Given the description of an element on the screen output the (x, y) to click on. 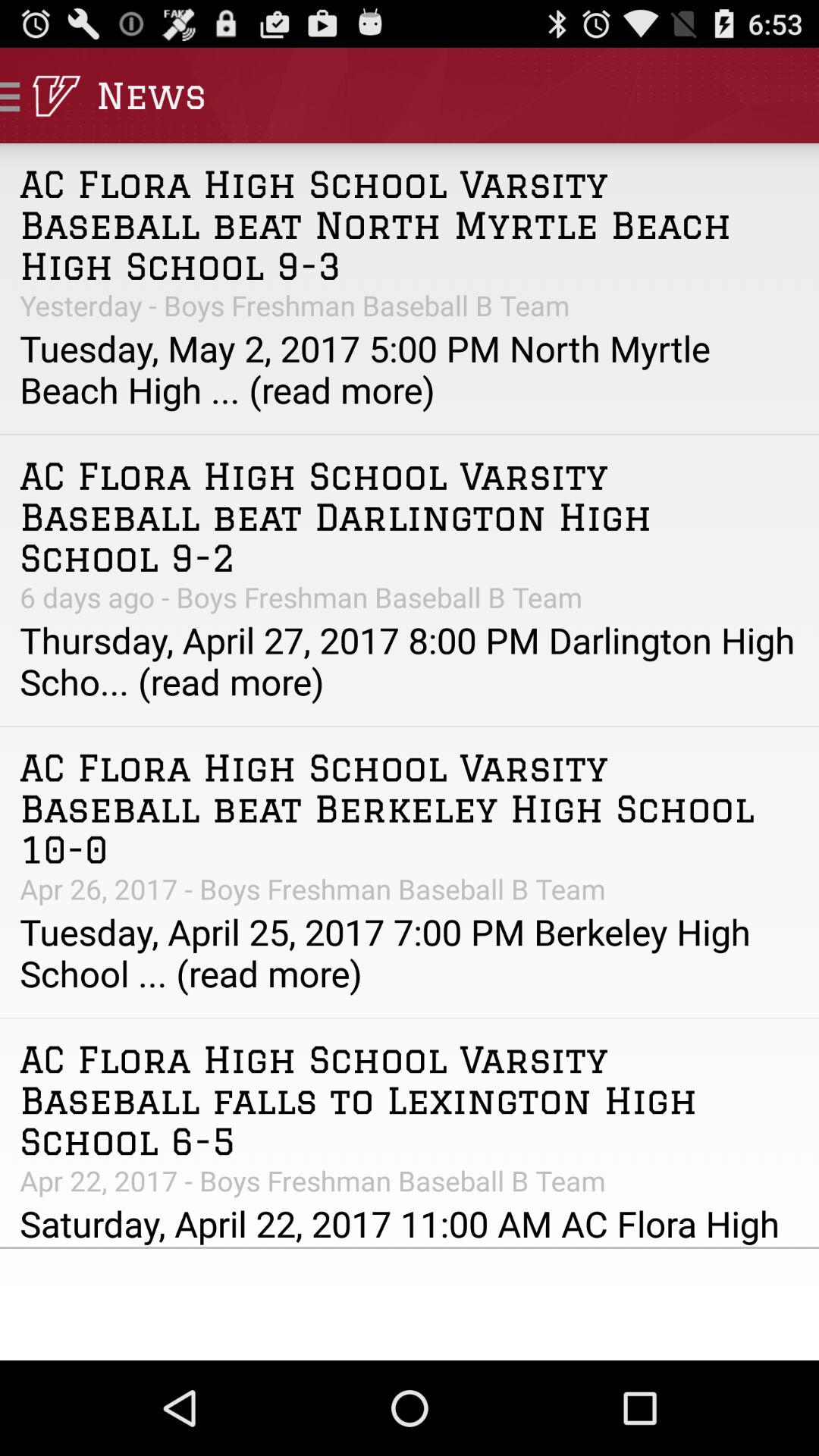
swipe until 6 days ago app (409, 596)
